Given the description of an element on the screen output the (x, y) to click on. 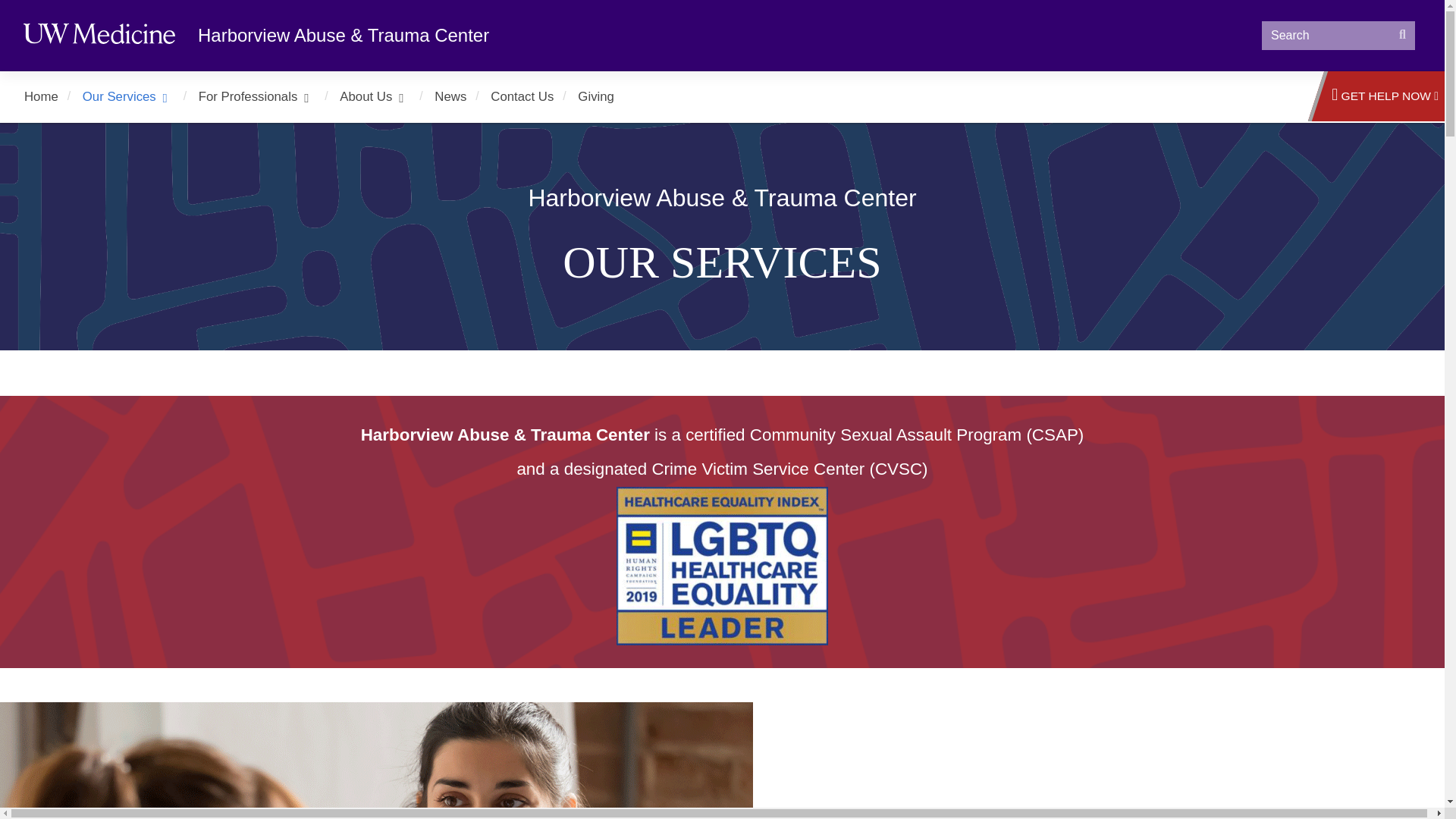
Our Services (134, 96)
For Professionals (263, 96)
For Professionals (263, 96)
Search (1402, 34)
Search for: (1338, 35)
Our Services (134, 96)
Home (41, 96)
Home (41, 96)
